Given the description of an element on the screen output the (x, y) to click on. 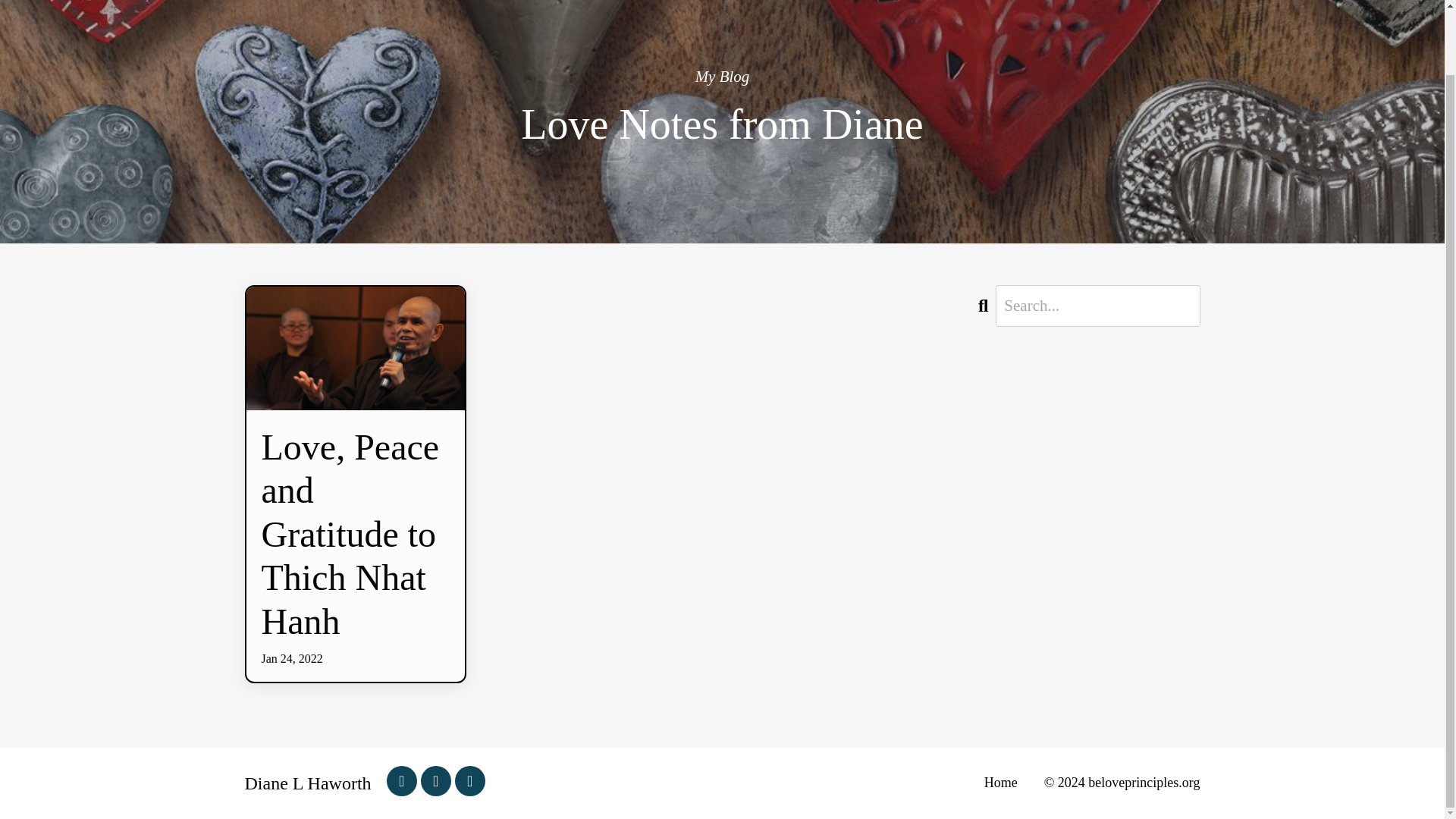
Diane L Haworth (307, 782)
Home (764, 782)
